Given the description of an element on the screen output the (x, y) to click on. 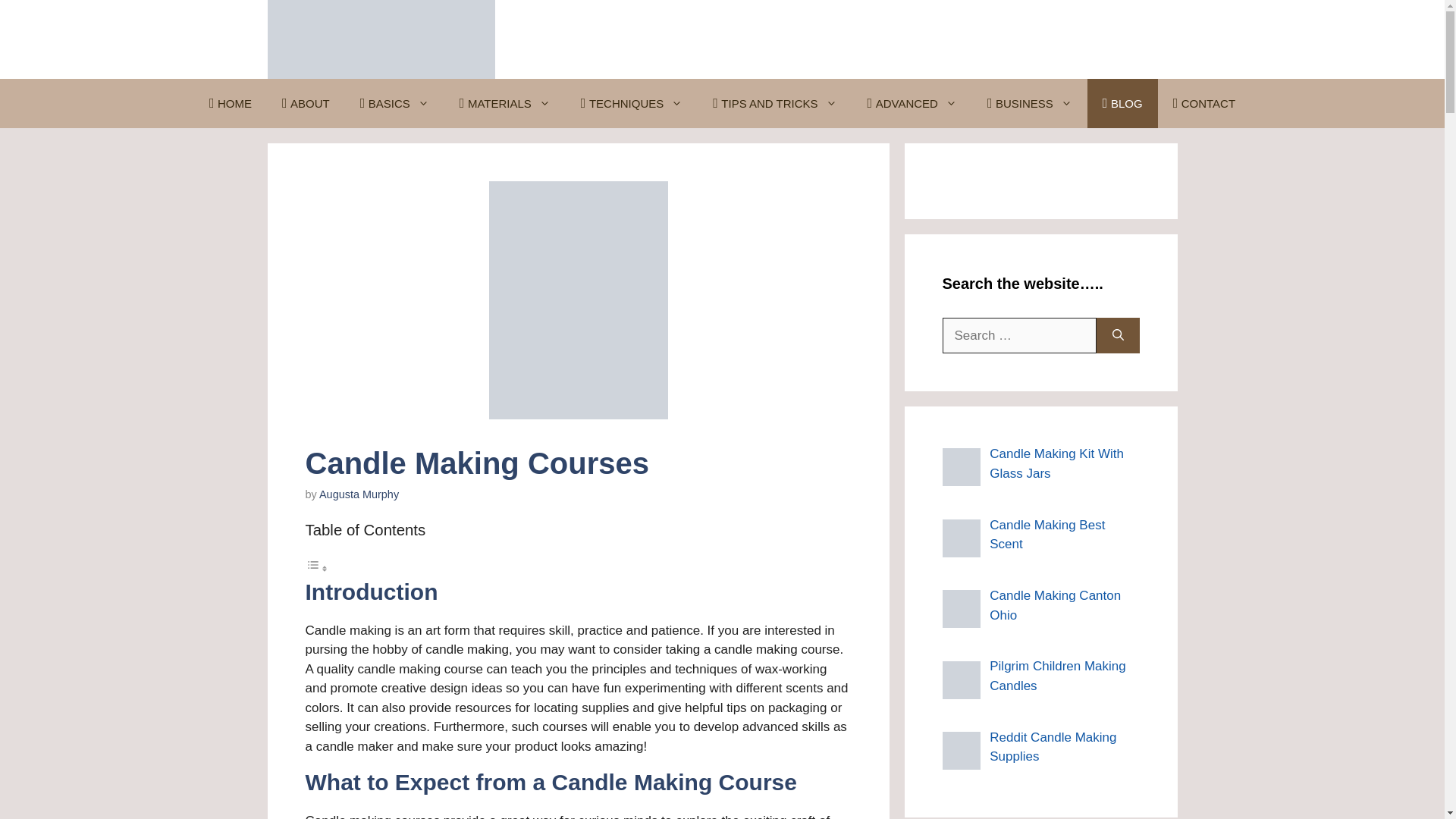
View all posts by Augusta Murphy (358, 494)
